Given the description of an element on the screen output the (x, y) to click on. 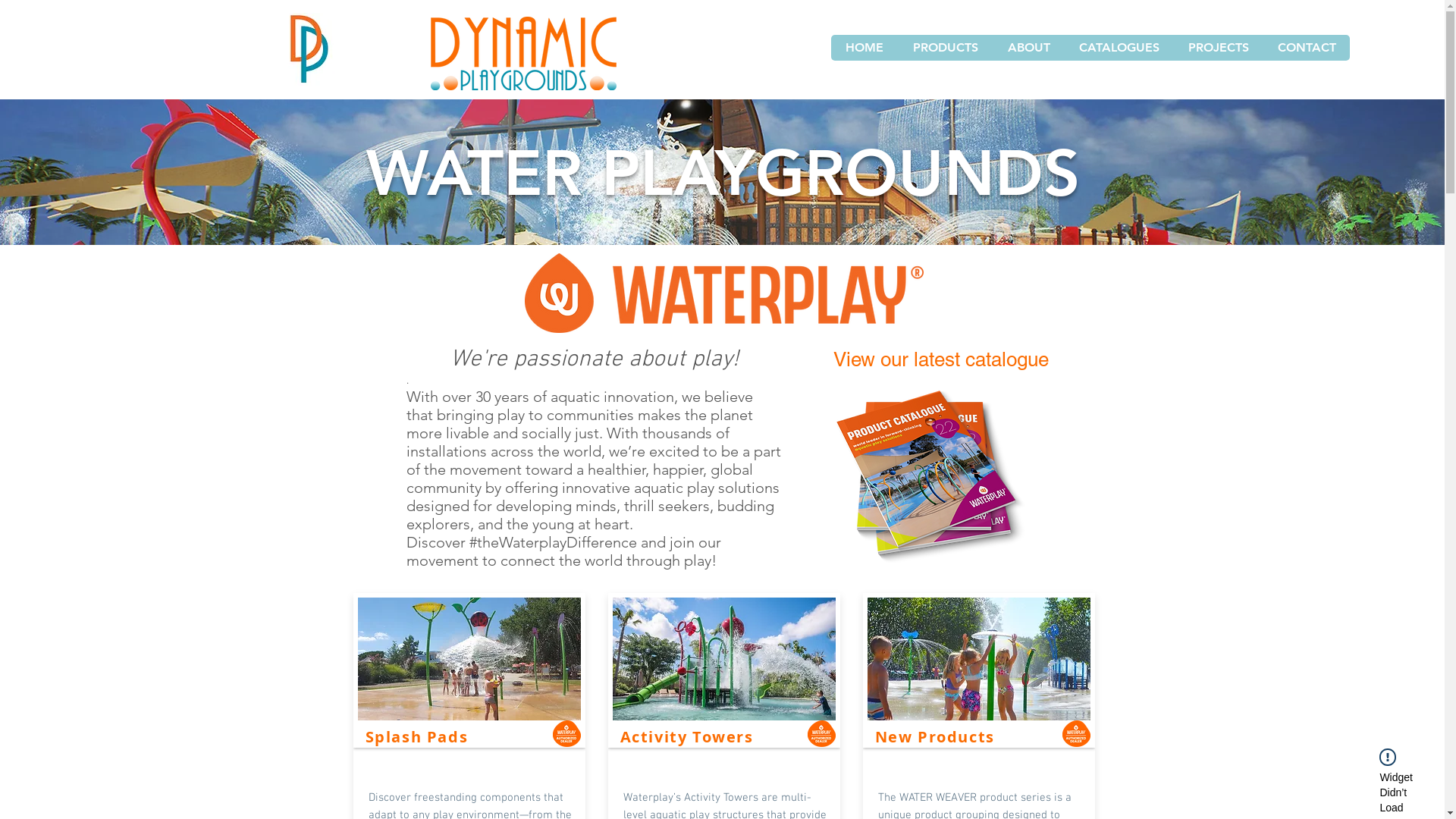
logo-lsi-2x.png Element type: hover (1075, 733)
ABOUT Element type: text (1027, 47)
logo-lsi-2x.png Element type: hover (820, 733)
PROJECTS Element type: text (1217, 47)
#theWaterplayDifference Element type: text (552, 542)
PRODUCTS Element type: text (944, 47)
logo-lsi-2x.png Element type: hover (566, 733)
Logo_Waterplay Standard_DEALER USE_WT Bkgd_CMYK.png Element type: hover (723, 292)
CATALOGUES Element type: text (1118, 47)
CONTACT Element type: text (1305, 47)
HOME Element type: text (864, 47)
